Given the description of an element on the screen output the (x, y) to click on. 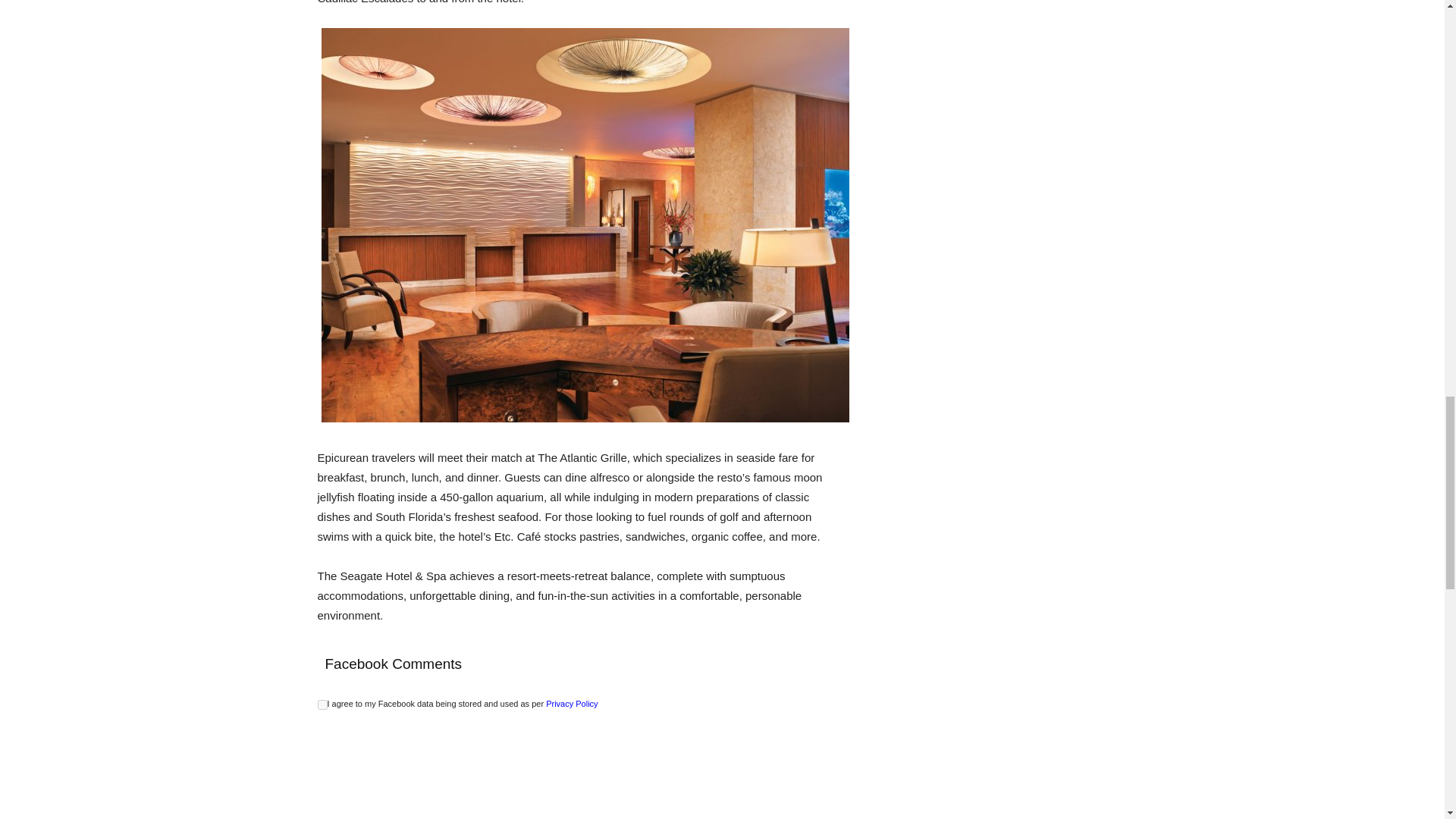
1 (321, 705)
